Given the description of an element on the screen output the (x, y) to click on. 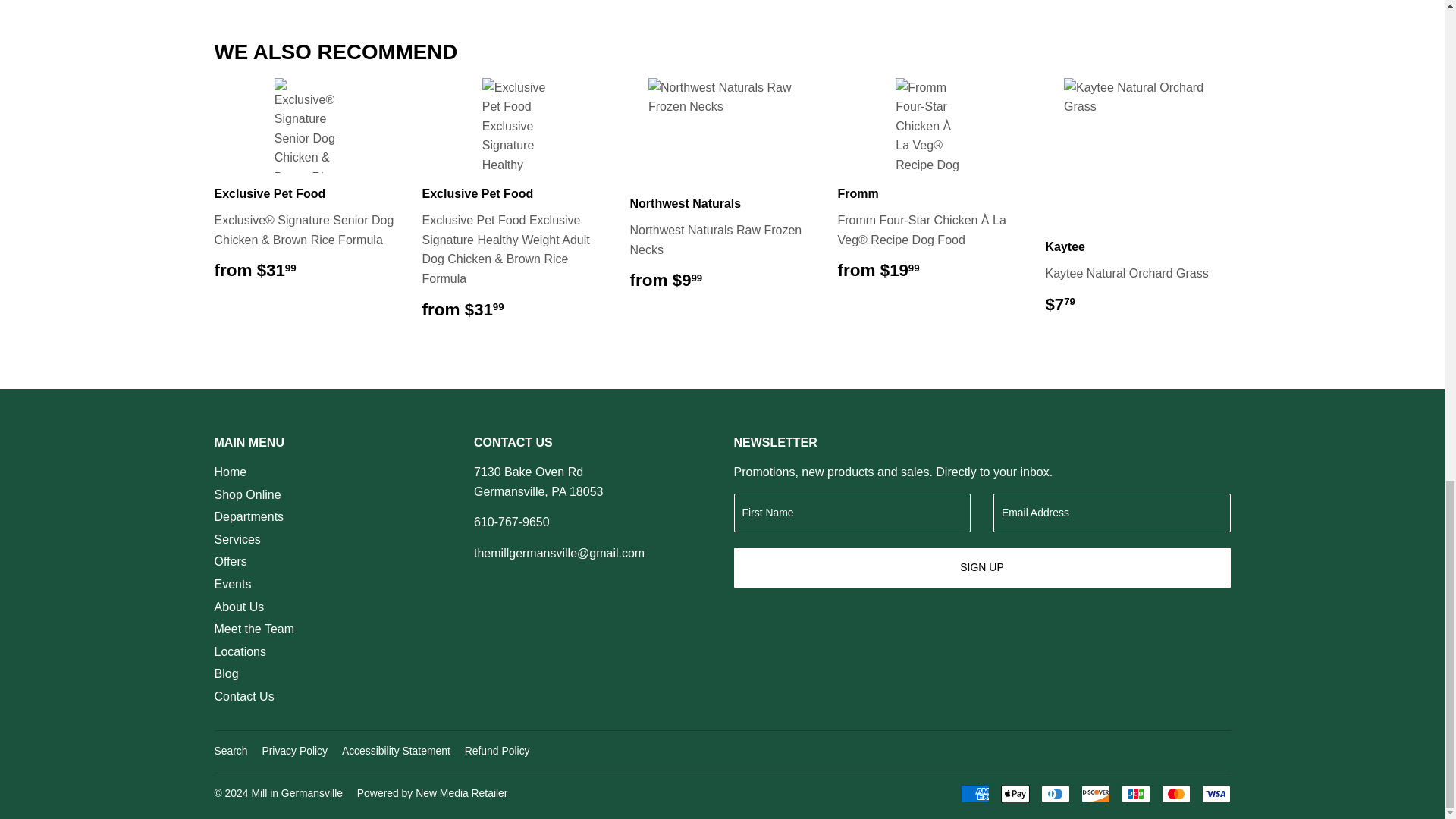
Mastercard (1176, 793)
Apple Pay (1015, 793)
Discover (1095, 793)
tel:610-767-9650 (512, 521)
JCB (1135, 793)
New Media Retailer (432, 793)
American Express (973, 793)
Diners Club (1054, 793)
Visa (1215, 793)
